Given the description of an element on the screen output the (x, y) to click on. 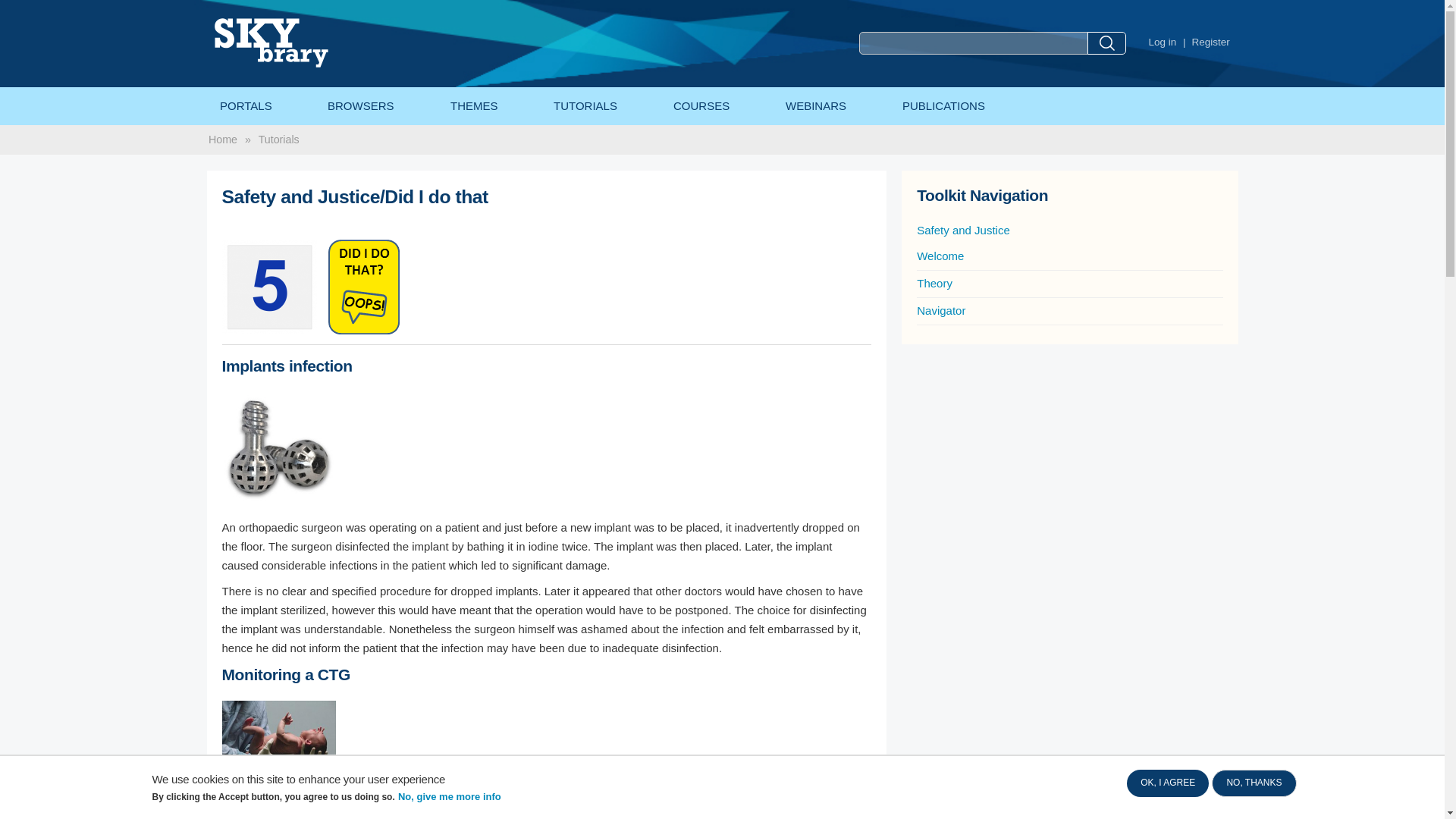
Log in (1162, 42)
PORTALS (244, 105)
Register (1211, 42)
Home (302, 43)
Search (1106, 42)
Enter the terms you wish to search for. (973, 42)
Search (1106, 42)
